Given the description of an element on the screen output the (x, y) to click on. 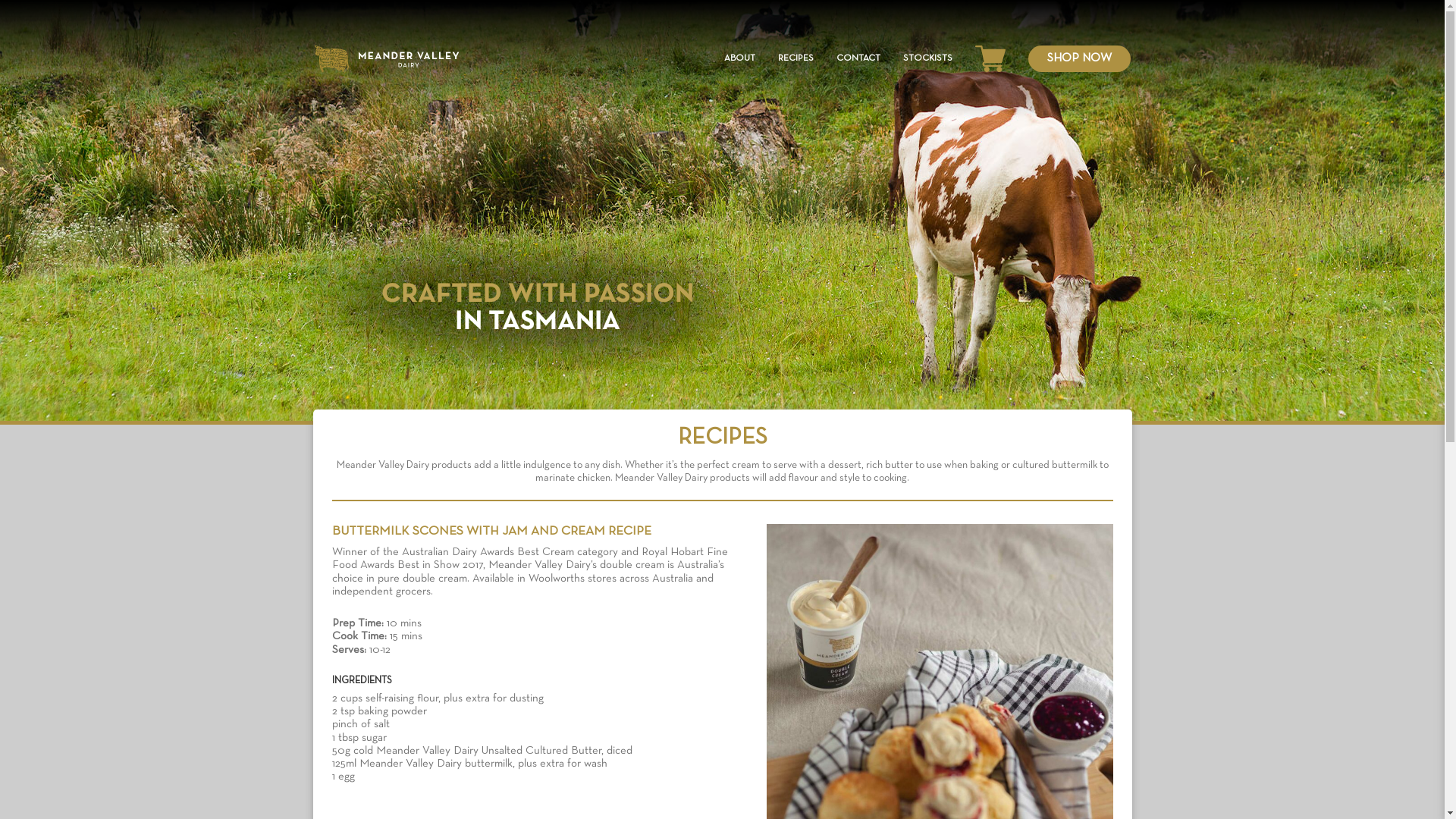
STOCKISTS Element type: text (926, 58)
SHOP NOW Element type: text (1079, 58)
CONTACT Element type: text (857, 58)
ABOUT Element type: text (738, 58)
RECIPES Element type: text (795, 58)
